Given the description of an element on the screen output the (x, y) to click on. 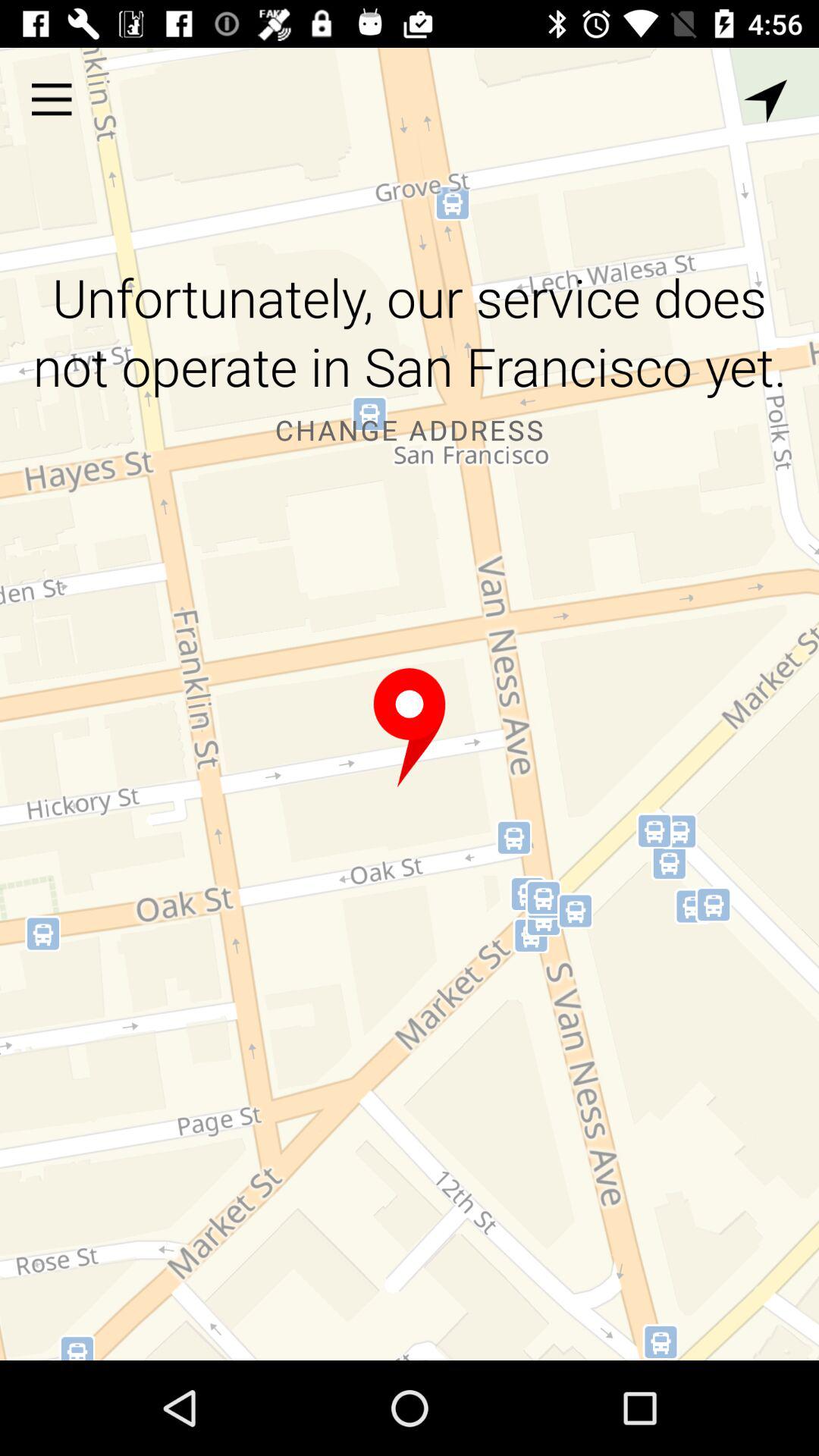
menu section (51, 99)
